Given the description of an element on the screen output the (x, y) to click on. 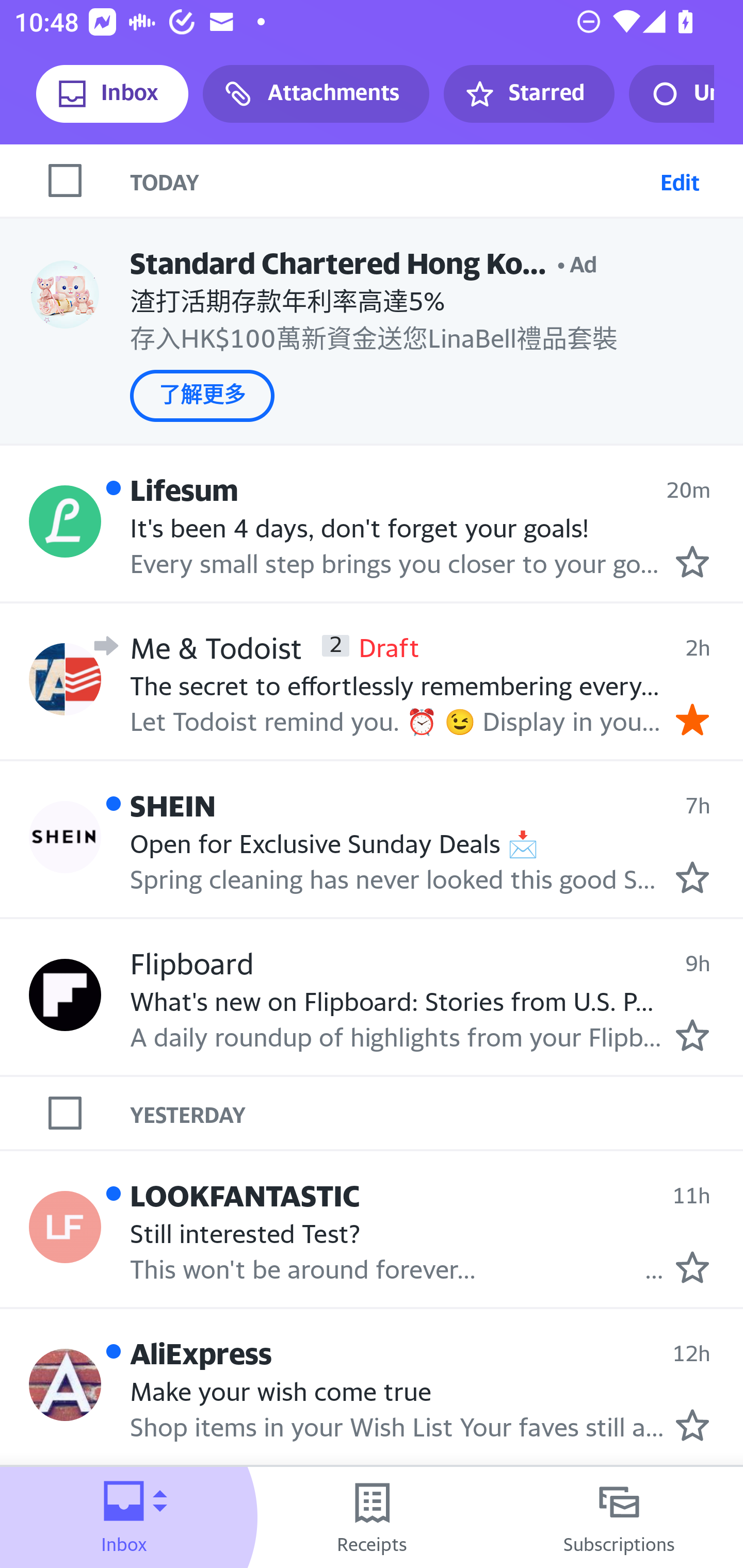
Attachments (315, 93)
Starred (528, 93)
TODAY (391, 180)
Edit Select emails (679, 180)
Profile
Lifesum (64, 522)
Mark as starred. (692, 562)
Profile
Me & Todoist (64, 678)
Remove star. (692, 718)
Profile
SHEIN (64, 837)
Mark as starred. (692, 877)
Profile
Flipboard (64, 995)
Mark as starred. (692, 1035)
YESTERDAY (436, 1112)
Profile
LOOKFANTASTIC (64, 1227)
Mark as starred. (692, 1267)
Profile
AliExpress (64, 1384)
Mark as starred. (692, 1424)
Inbox Folder picker (123, 1517)
Receipts (371, 1517)
Subscriptions (619, 1517)
